Given the description of an element on the screen output the (x, y) to click on. 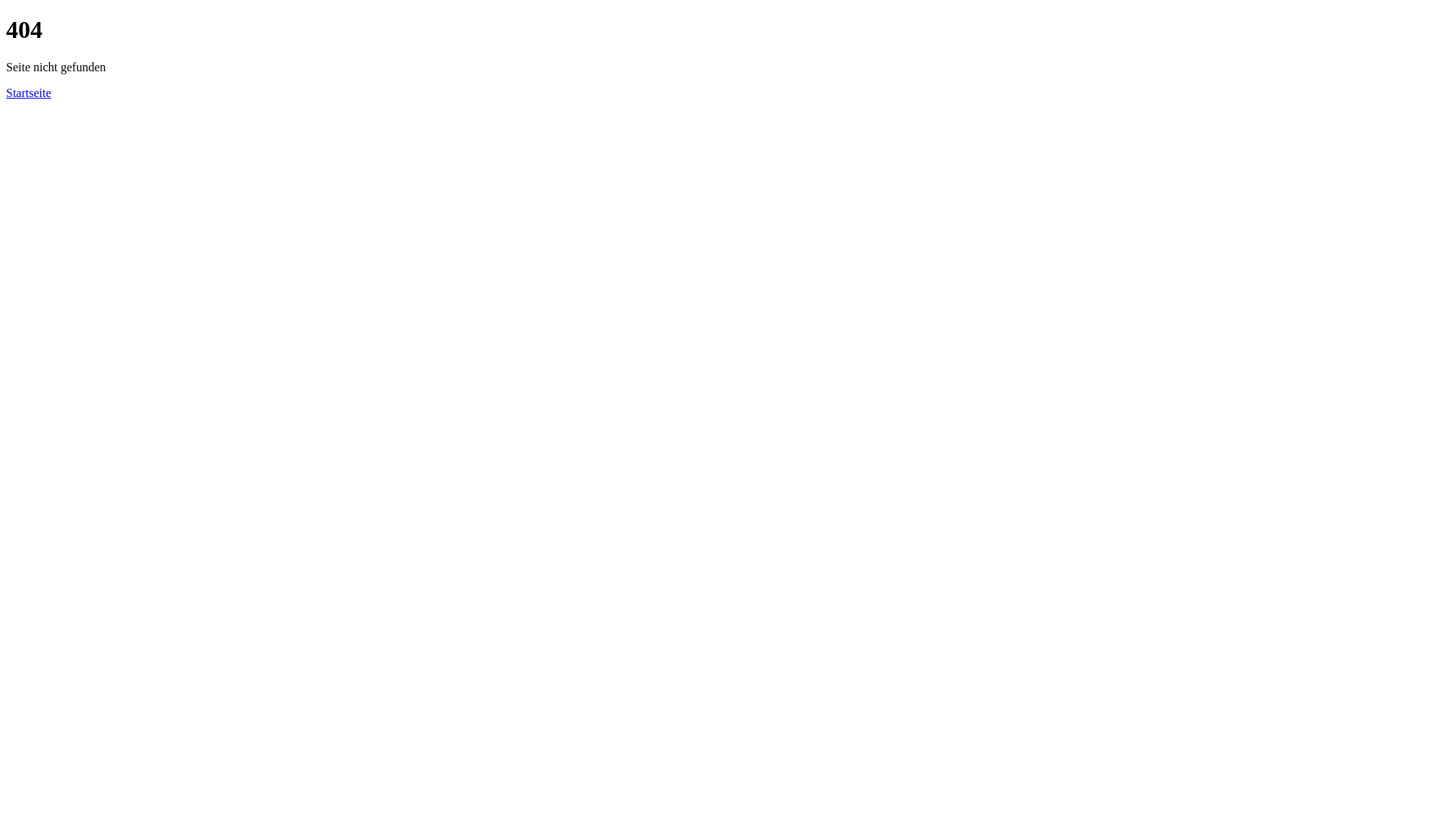
Startseite Element type: text (28, 92)
